Given the description of an element on the screen output the (x, y) to click on. 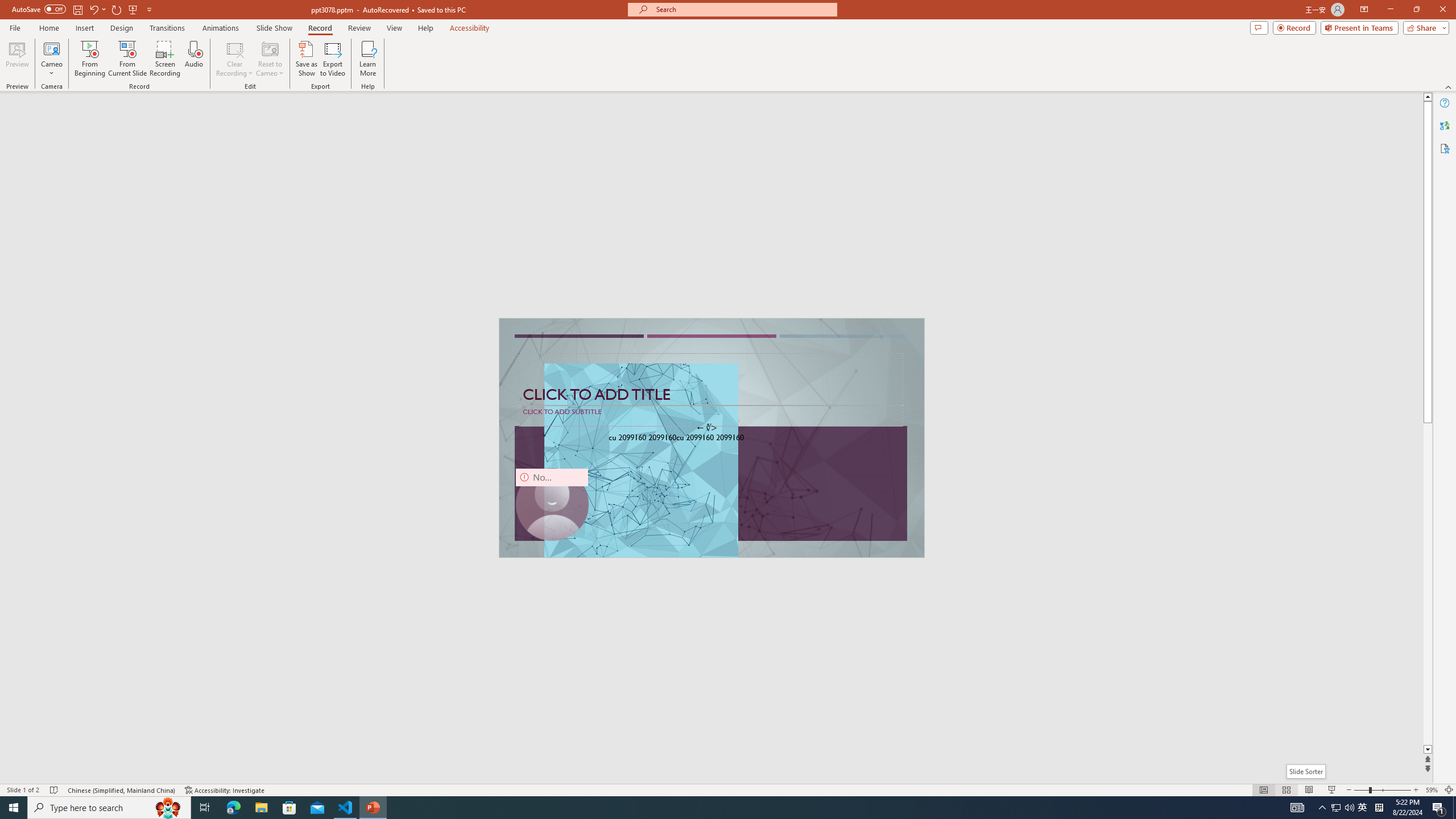
Wikipedia, the free encyclopedia (247, 78)
Explorer Section: wangyian (188, 209)
Extensions (Ctrl+Shift+X) (76, 397)
Microsoft security help and learning (23, 348)
